Given the description of an element on the screen output the (x, y) to click on. 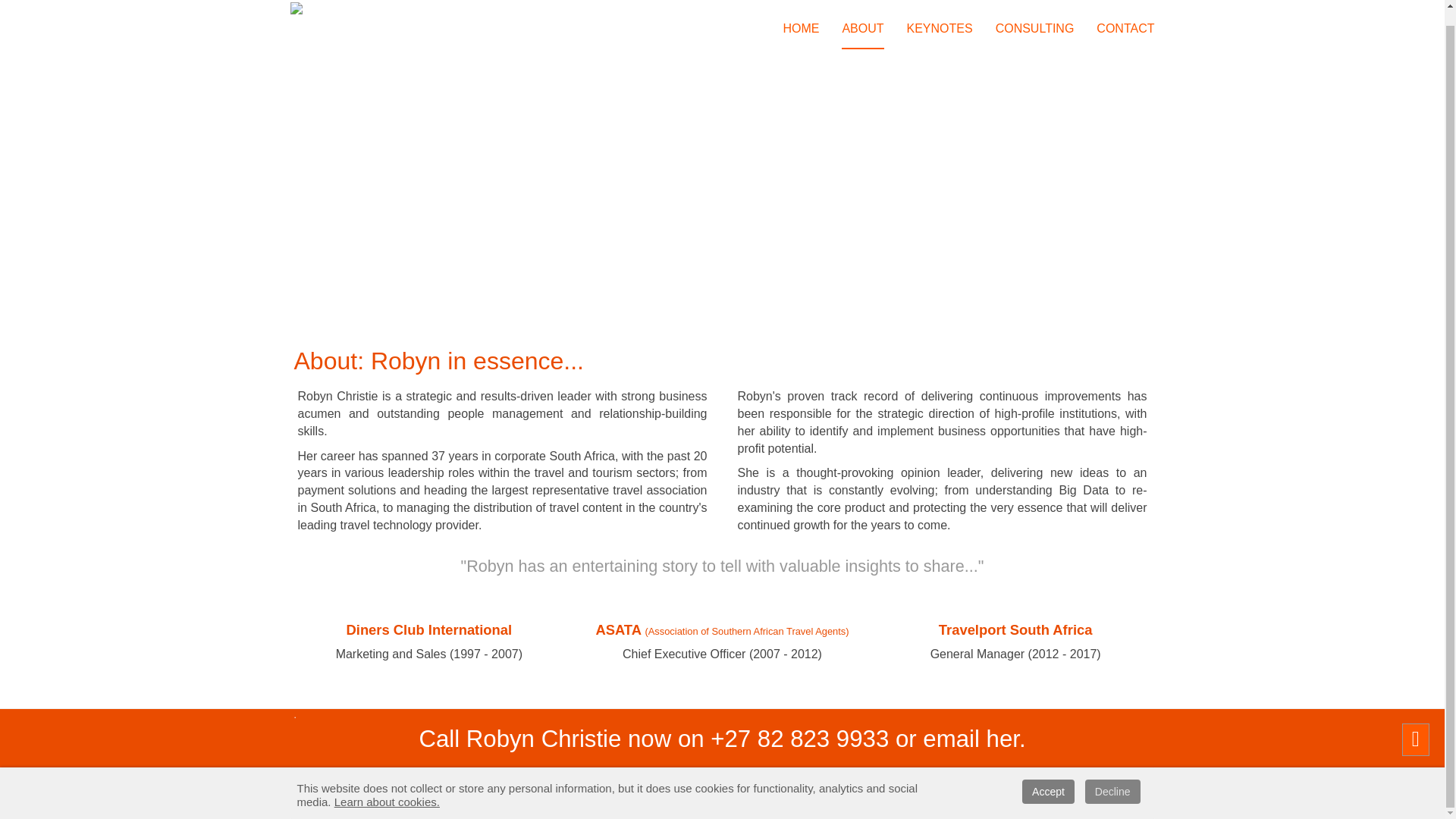
CONSULTING (1034, 17)
HOME (800, 17)
ABOUT (862, 17)
Download a brief profile of Robyn Christie (727, 773)
KEYNOTES (939, 17)
Decline (1112, 776)
Accept (1048, 776)
Opens in new tab (727, 773)
email her (971, 738)
Learn about cookies. (386, 786)
